Given the description of an element on the screen output the (x, y) to click on. 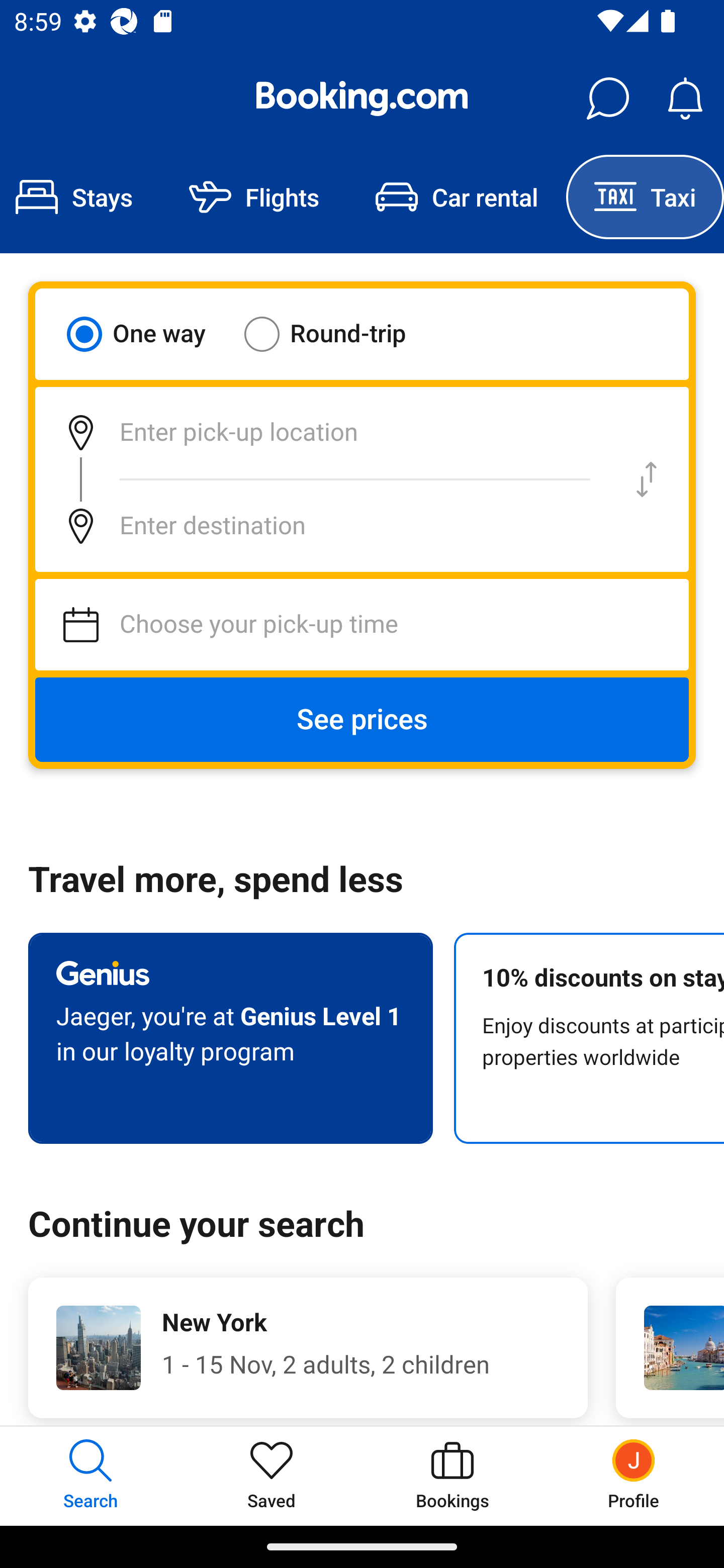
Messages (607, 98)
Notifications (685, 98)
Stays (80, 197)
Flights (253, 197)
Car rental (456, 197)
Taxi (645, 197)
Round-trip (337, 333)
Enter pick-up location (319, 432)
Swap pick-up location and destination (646, 479)
Enter destination (319, 525)
Choose your pick-up time (361, 624)
See prices (361, 719)
New York 1 - 15 Nov, 2 adults, 2 children (307, 1347)
Saved (271, 1475)
Bookings (452, 1475)
Profile (633, 1475)
